Given the description of an element on the screen output the (x, y) to click on. 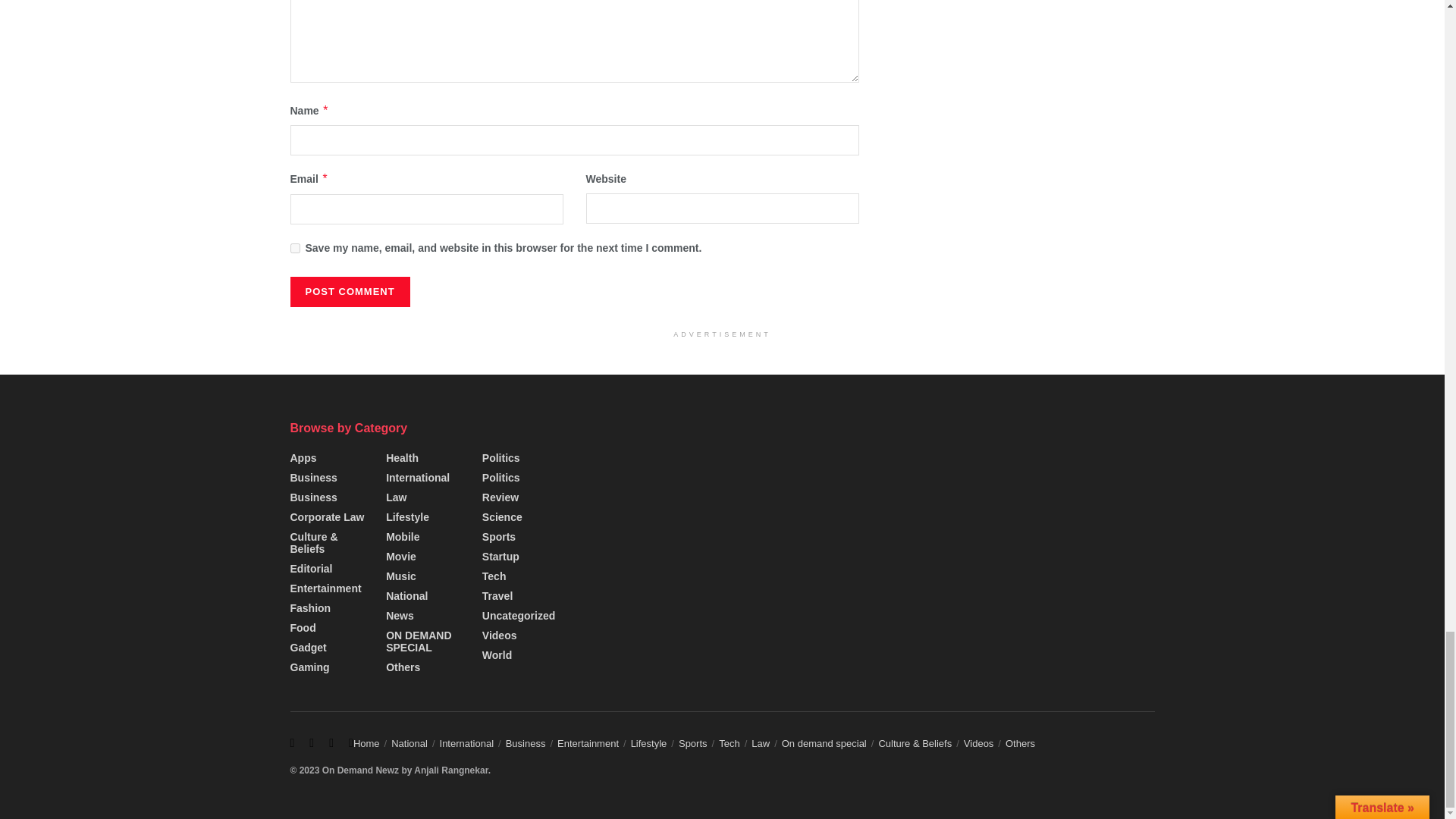
yes (294, 248)
Post Comment (349, 291)
